Given the description of an element on the screen output the (x, y) to click on. 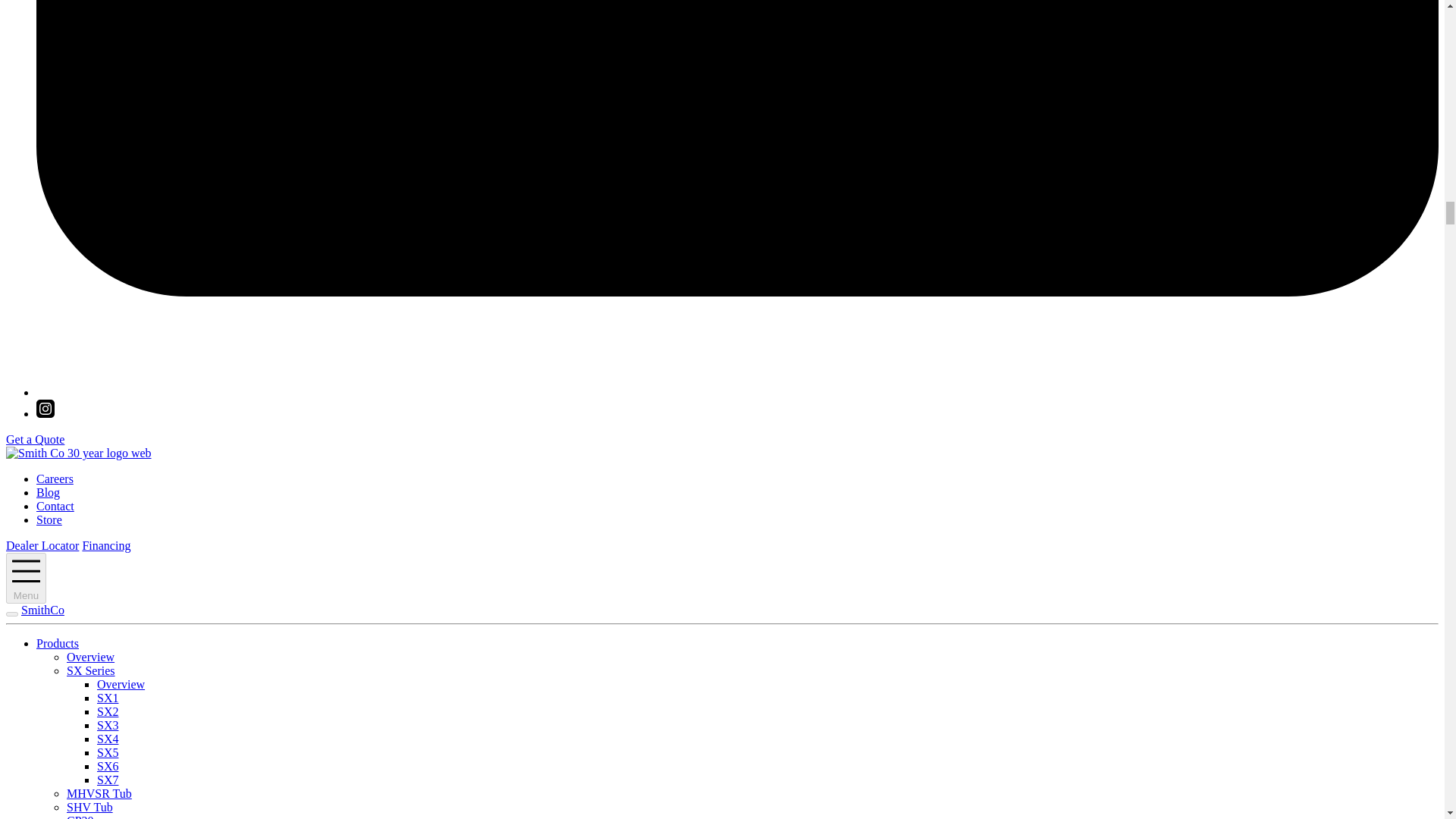
MHVSR Tub (99, 793)
SHV Tub (89, 807)
SX Series (90, 670)
Products (57, 643)
SX3 (107, 725)
Get a Quote (34, 439)
Careers (55, 478)
Contact (55, 505)
SX5 (107, 752)
SX1 (107, 697)
